Given the description of an element on the screen output the (x, y) to click on. 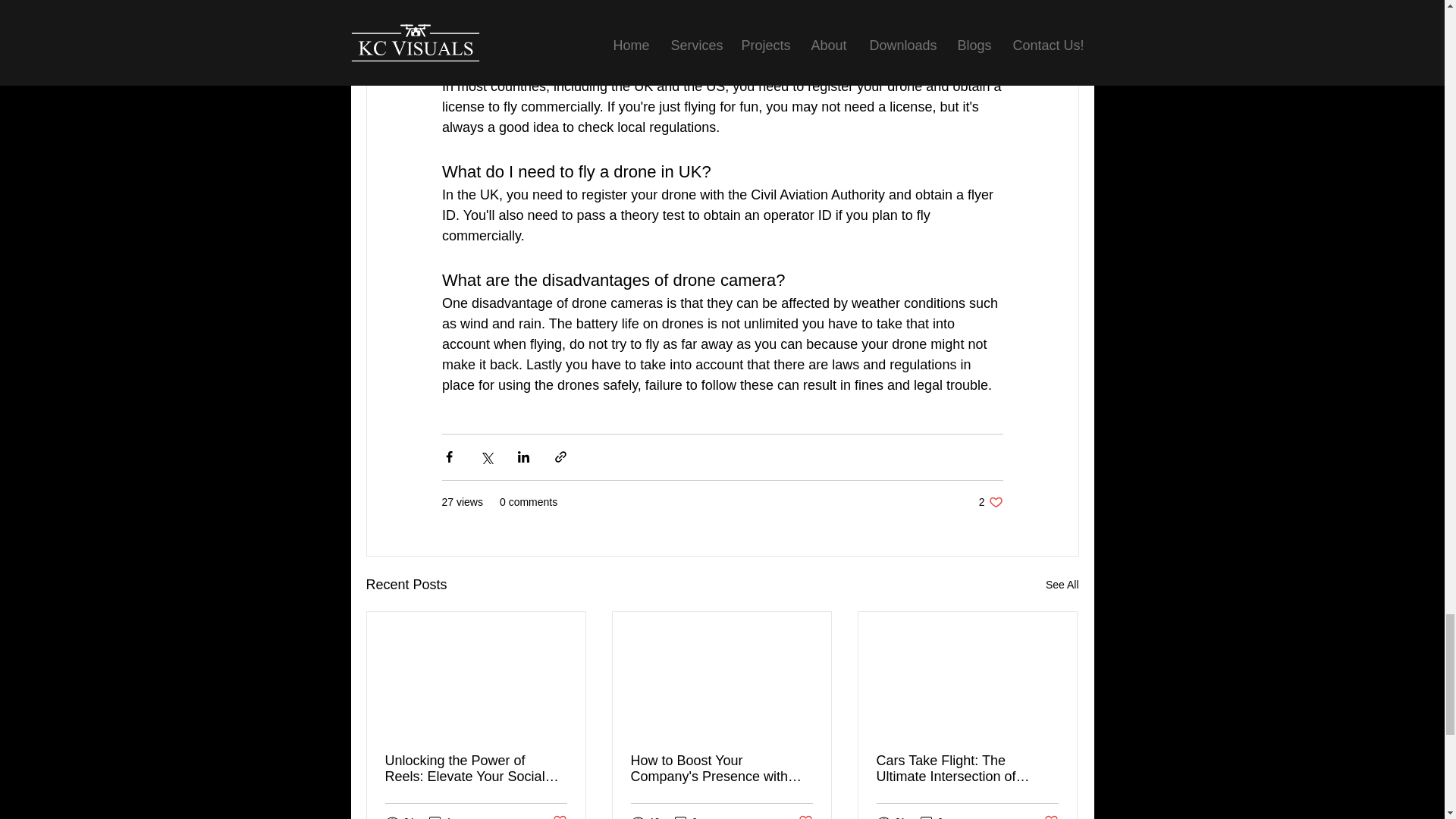
See All (990, 502)
1 (1061, 585)
Post not marked as liked (440, 816)
Post not marked as liked (558, 816)
Post not marked as liked (1050, 816)
0 (804, 816)
0 (685, 816)
